Given the description of an element on the screen output the (x, y) to click on. 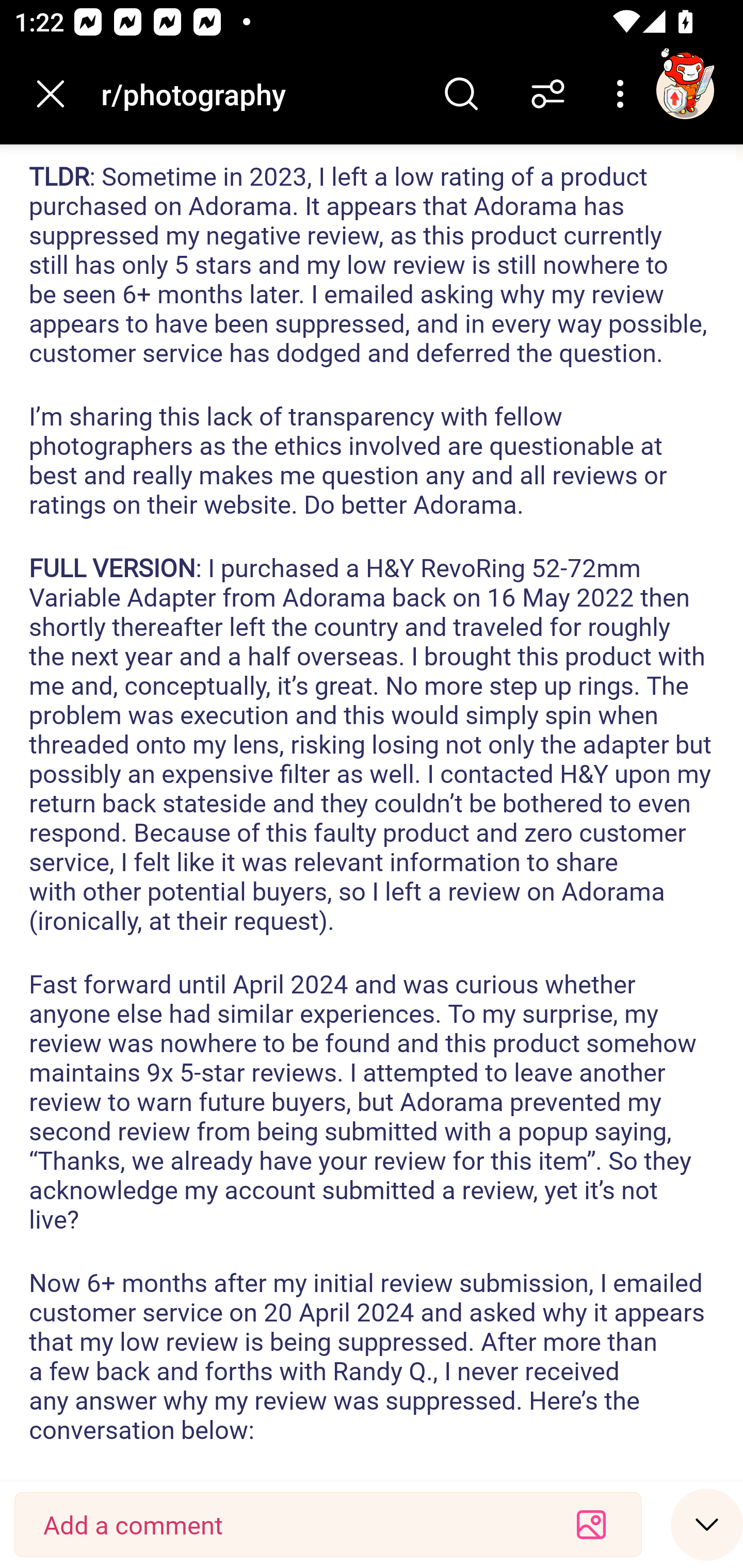
Back (50, 93)
TestAppium002 account (685, 90)
Search comments (460, 93)
Sort comments (547, 93)
More options (623, 93)
r/photography (259, 92)
Speed read (706, 1524)
Add a comment (291, 1524)
Add an image (590, 1524)
